Given the description of an element on the screen output the (x, y) to click on. 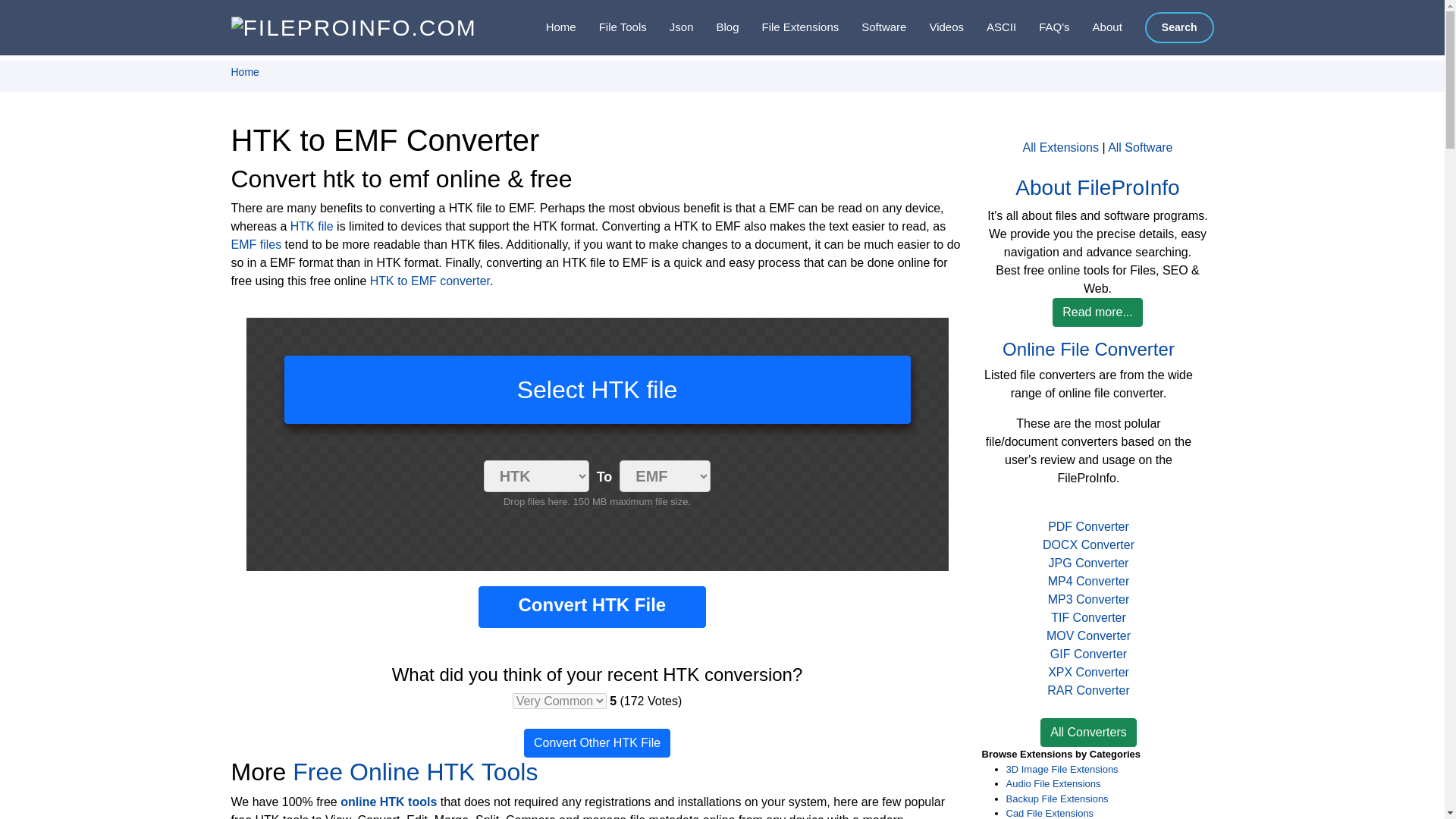
FAQ's (1042, 27)
Search (1179, 27)
Software program list (871, 27)
Secure online document tools (611, 27)
Free Online HTK Tools (414, 771)
Videos (934, 27)
Json (670, 27)
ASCII table (989, 27)
FAQ's (1042, 27)
HTK to EMF converter (429, 280)
